Given the description of an element on the screen output the (x, y) to click on. 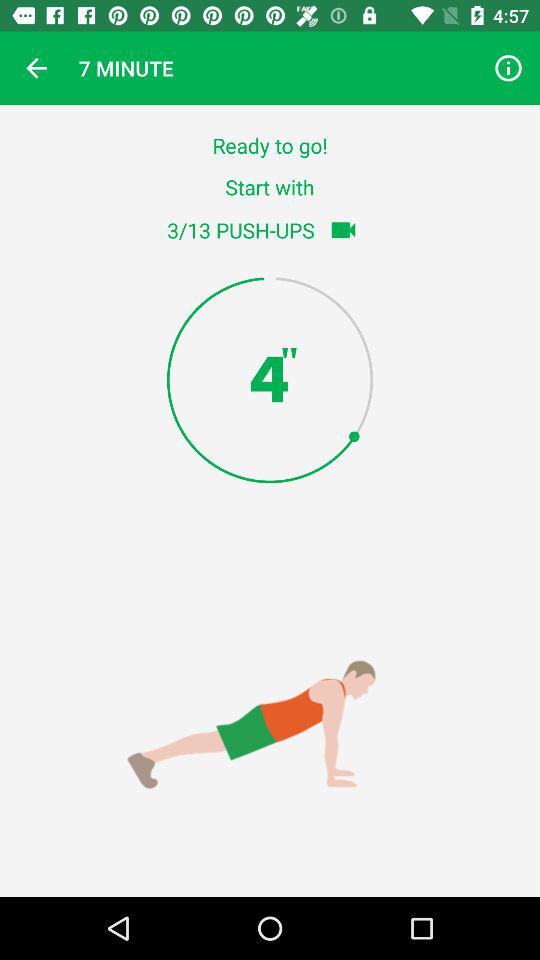
press the icon next to 3 13 push item (343, 230)
